Given the description of an element on the screen output the (x, y) to click on. 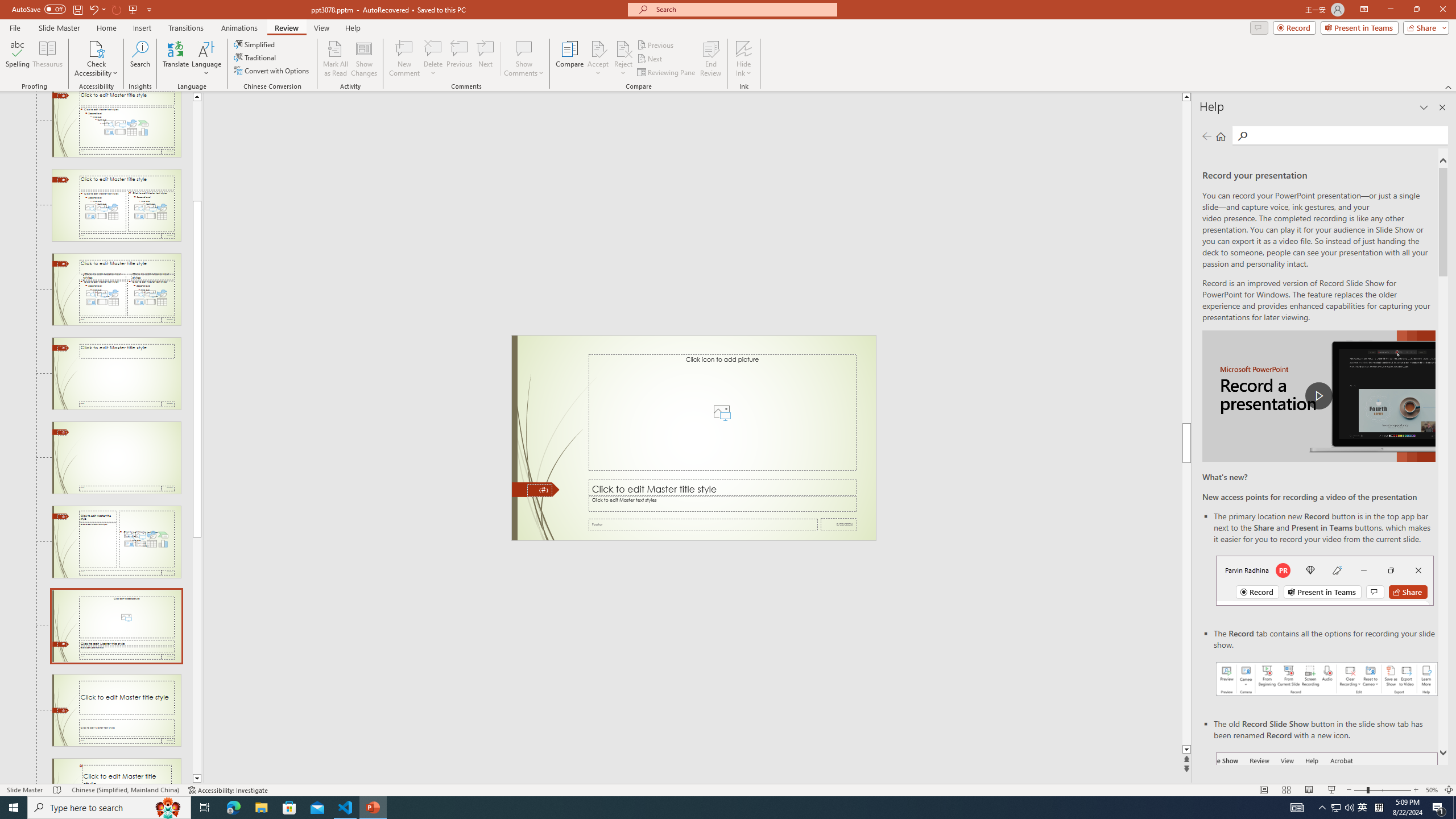
Traditional (255, 56)
Reject Change (622, 48)
Previous page (1206, 136)
Picture Placeholder 2 (722, 412)
Slide Content with Caption Layout: used by no slides (116, 542)
